Given the description of an element on the screen output the (x, y) to click on. 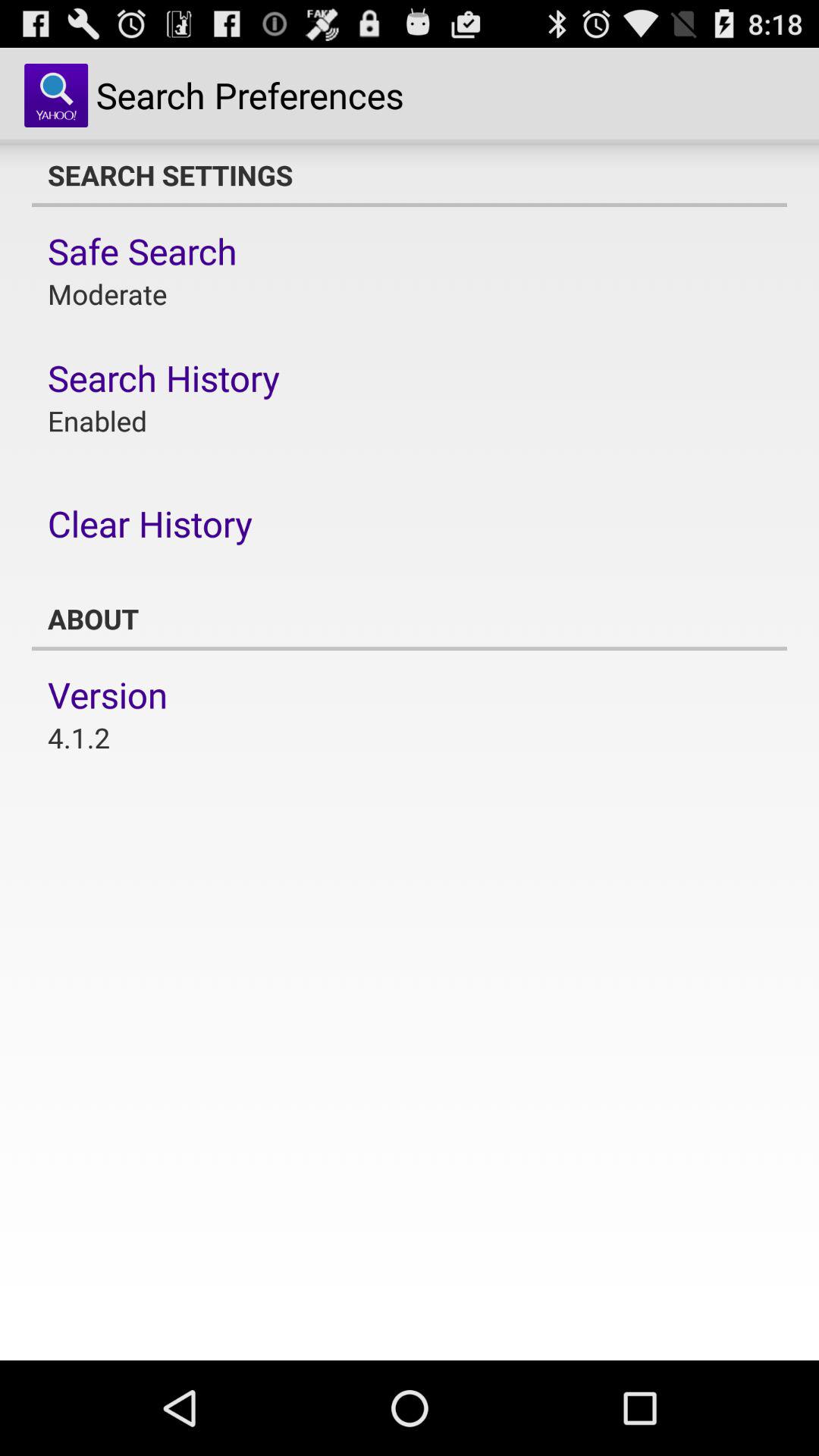
press item below the enabled (149, 523)
